Given the description of an element on the screen output the (x, y) to click on. 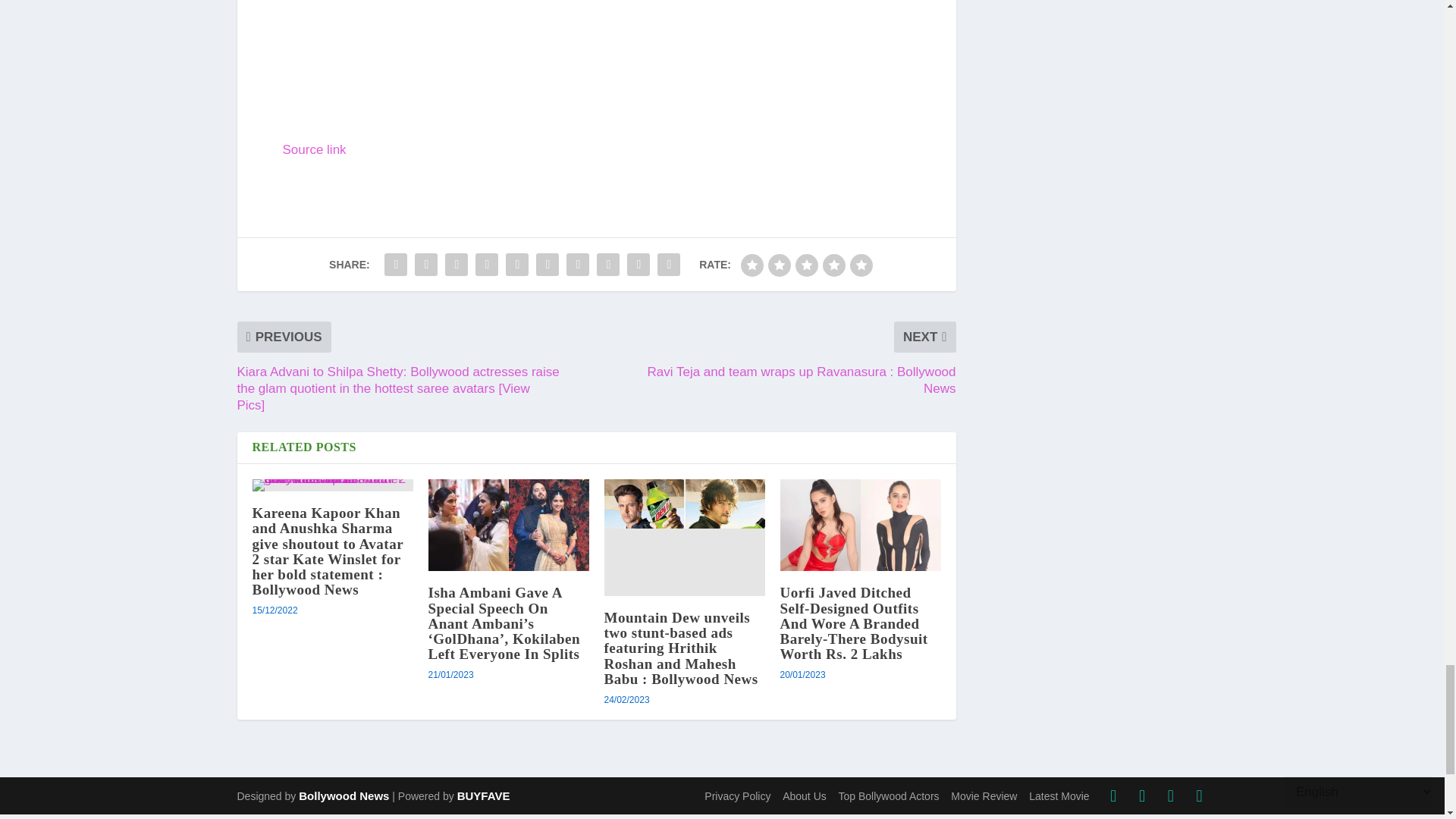
Source link (314, 149)
